Given the description of an element on the screen output the (x, y) to click on. 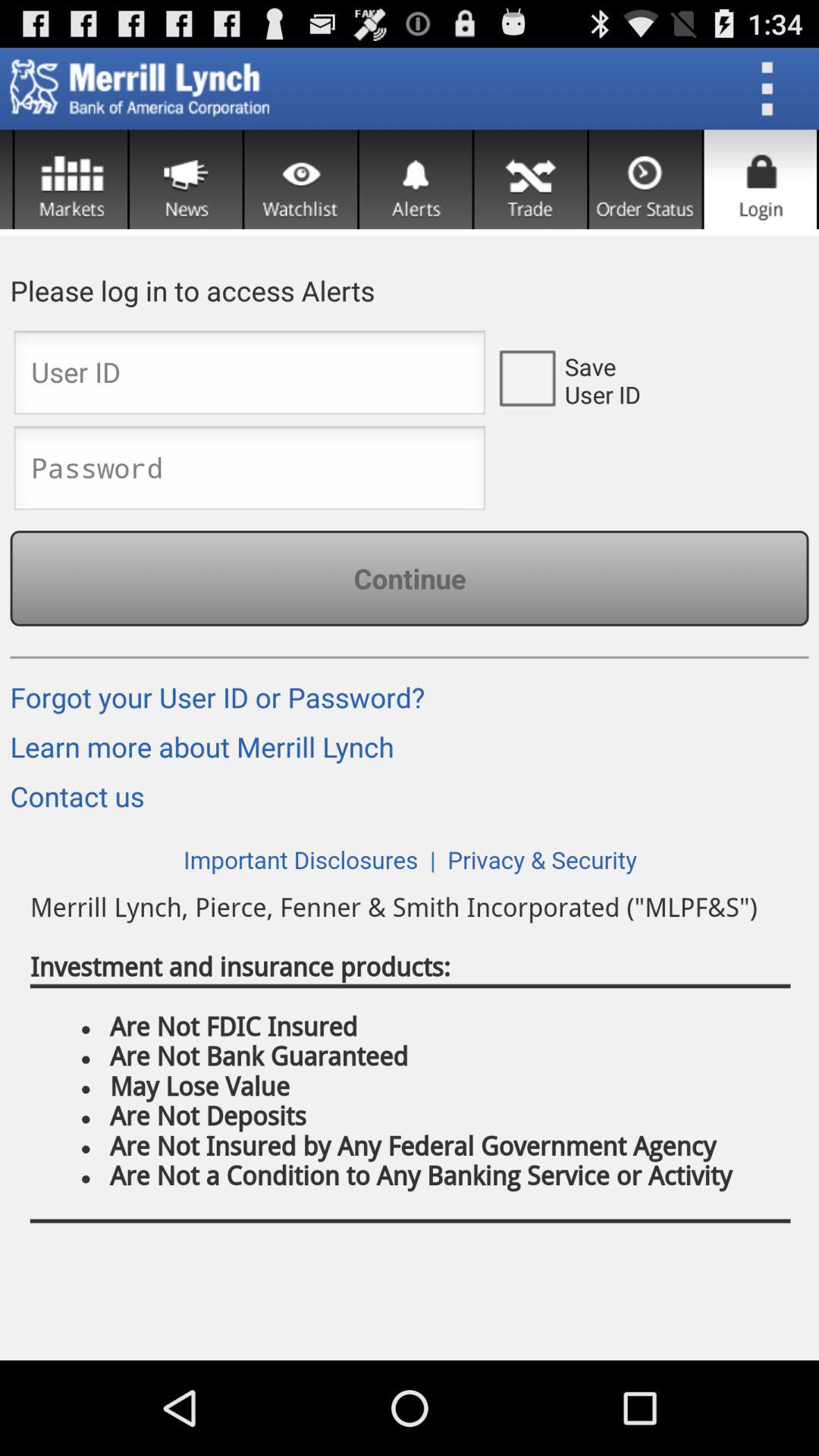
setting option (530, 179)
